Given the description of an element on the screen output the (x, y) to click on. 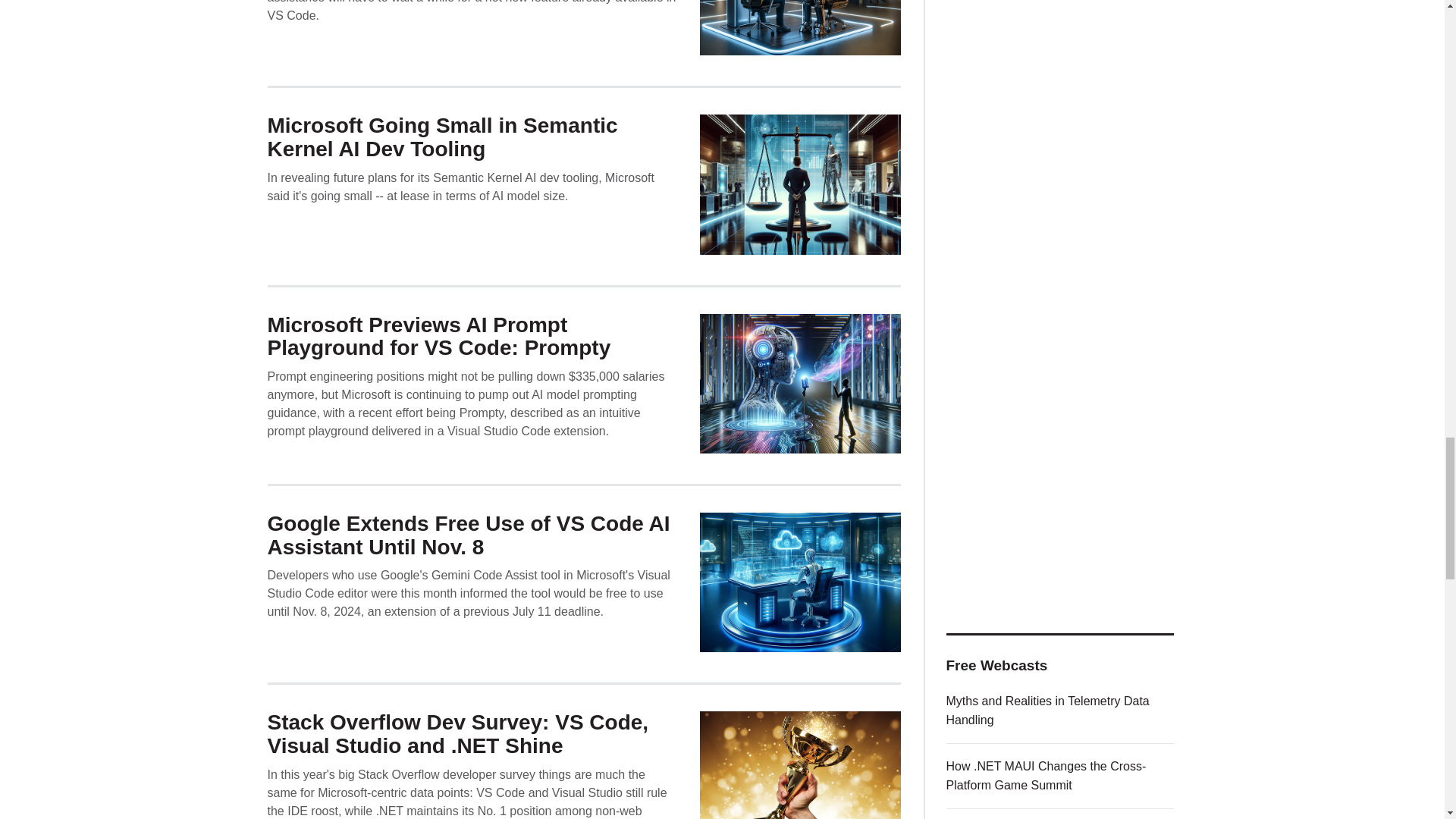
3rd party ad content (1059, 43)
3rd party ad content (1059, 219)
